Given the description of an element on the screen output the (x, y) to click on. 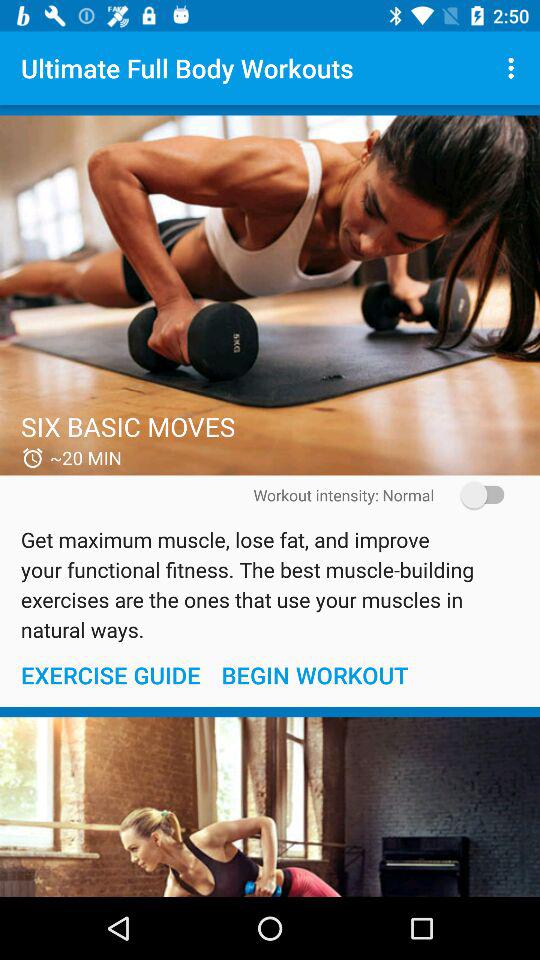
tap item next to workout intensity: normal (476, 494)
